Given the description of an element on the screen output the (x, y) to click on. 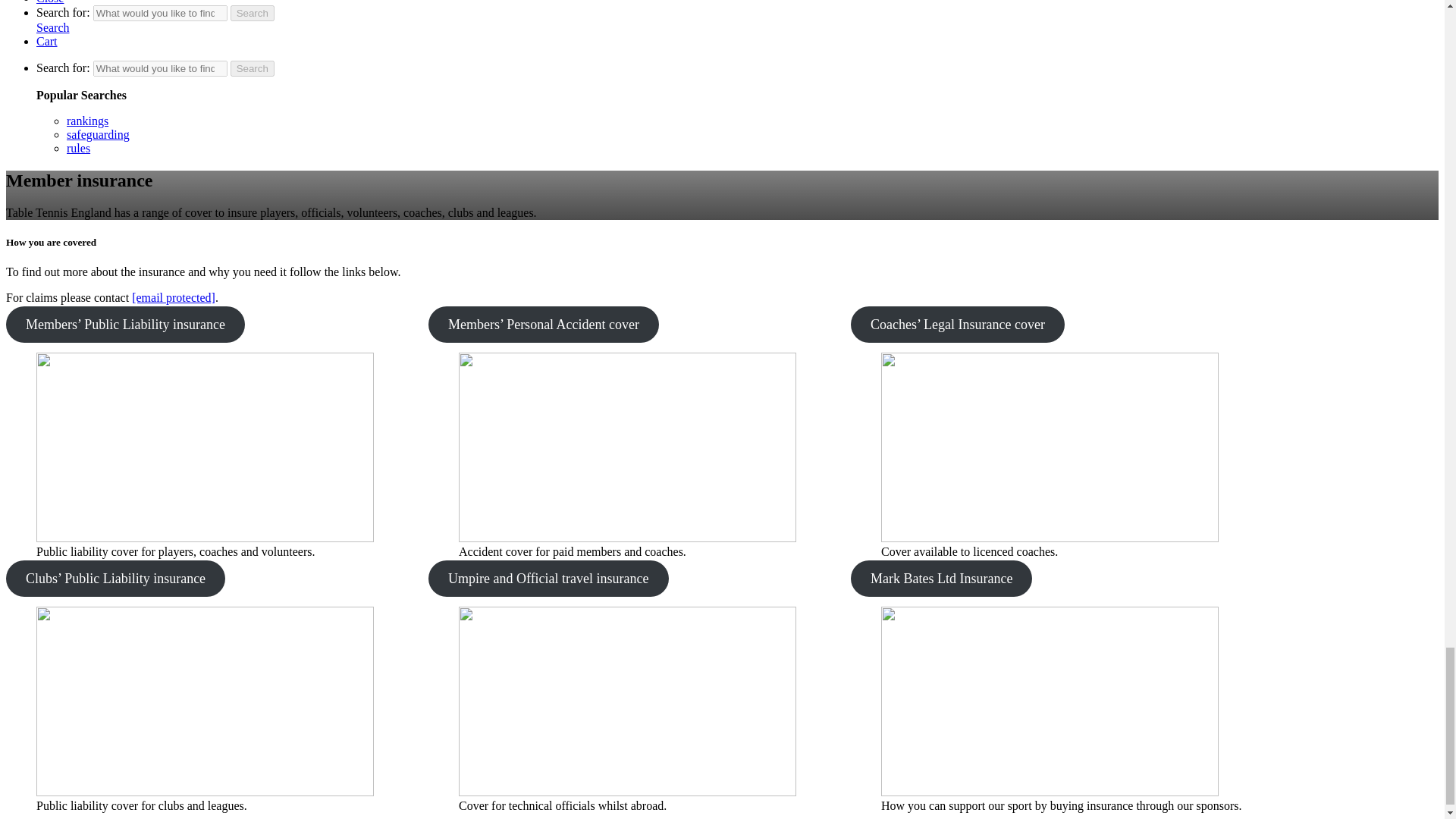
Search (252, 68)
Search (252, 68)
Search (252, 12)
Search (252, 12)
